Given the description of an element on the screen output the (x, y) to click on. 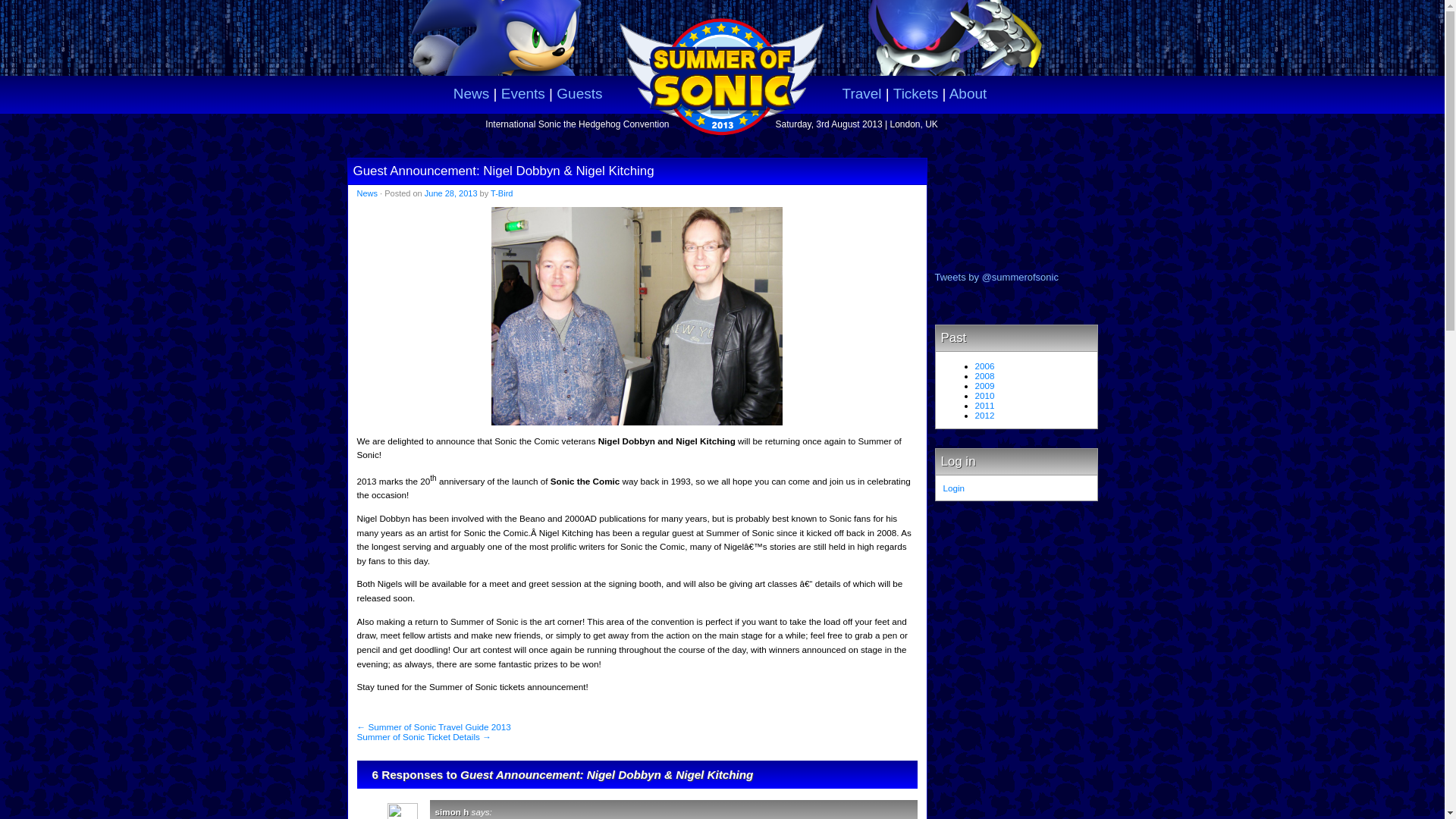
News (470, 93)
Guests (579, 93)
View all posts in News (366, 193)
Login (954, 488)
2012 (984, 415)
2006 (984, 366)
June 28, 2013 (451, 193)
View all posts by T-Bird (501, 193)
Events (522, 93)
T-Bird (501, 193)
6:00 pm (451, 193)
2009 (984, 385)
Tickets (915, 93)
2011 (984, 405)
Travel (860, 93)
